Given the description of an element on the screen output the (x, y) to click on. 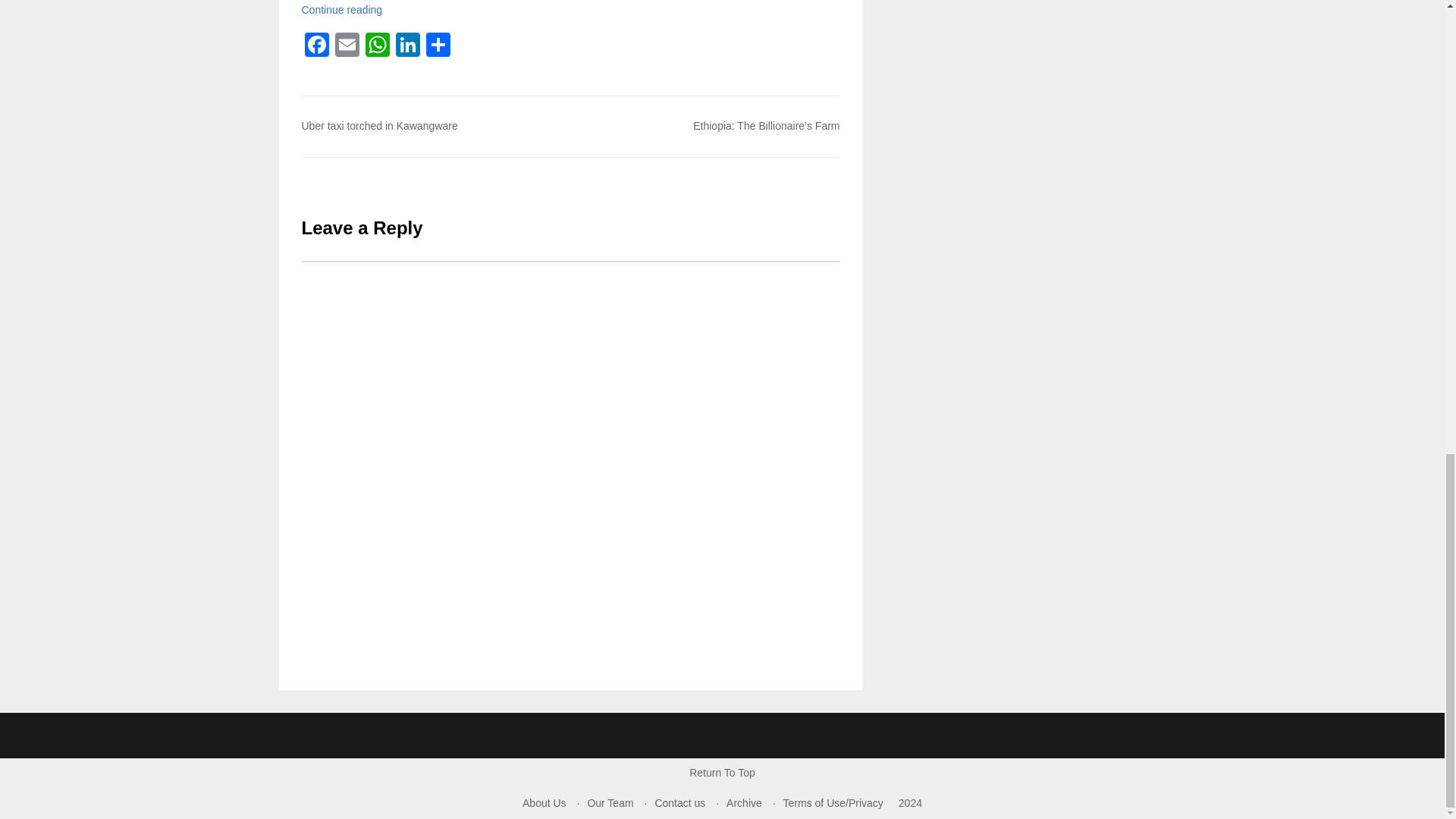
Facebook (316, 46)
Email (346, 46)
LinkedIn (408, 46)
Continue reading (341, 9)
WhatsApp (377, 46)
Uber taxi torched in Kawangware (379, 125)
